Given the description of an element on the screen output the (x, y) to click on. 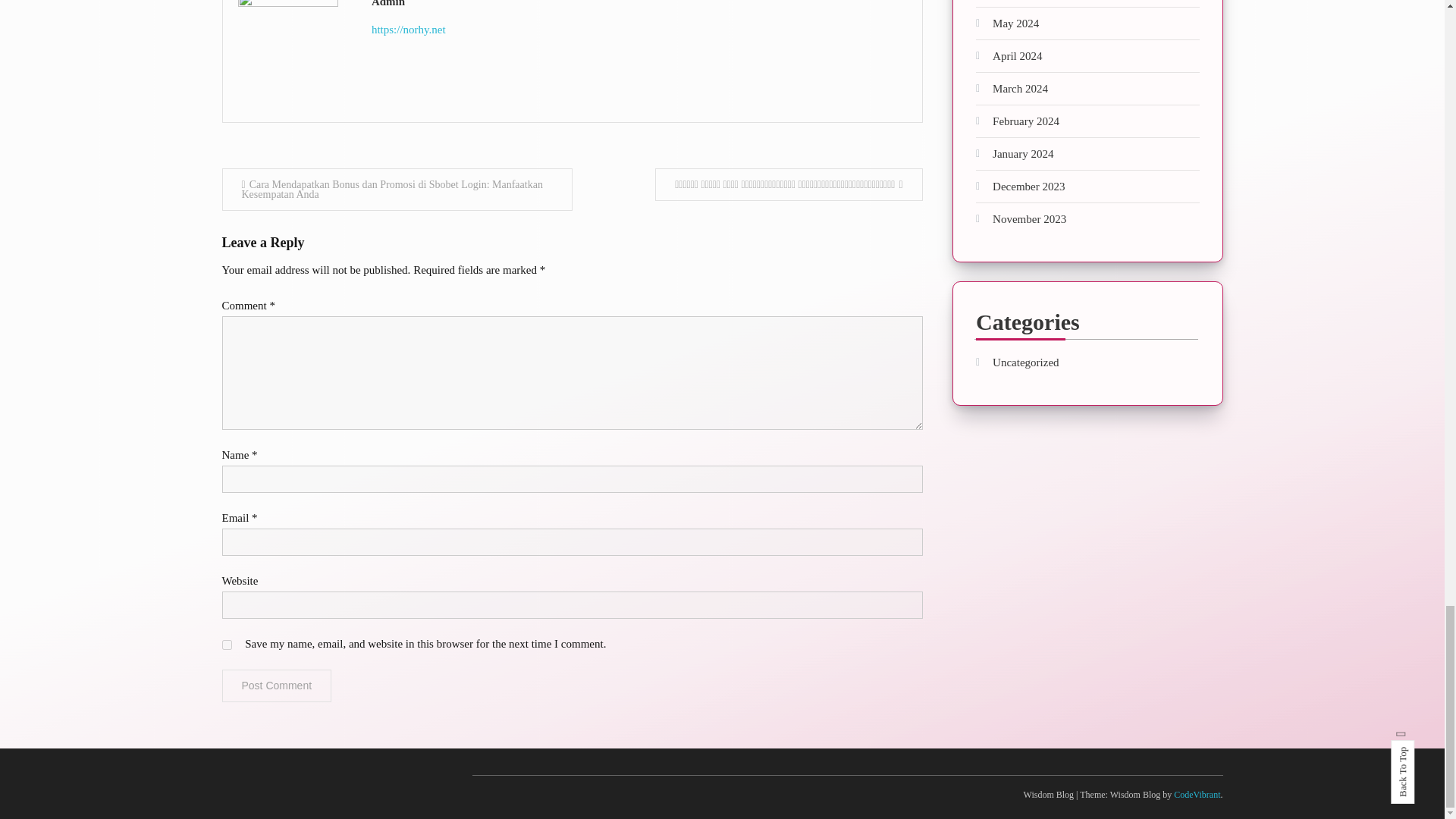
Post Comment (276, 685)
yes (226, 644)
Admin (639, 6)
Post Comment (276, 685)
